Given the description of an element on the screen output the (x, y) to click on. 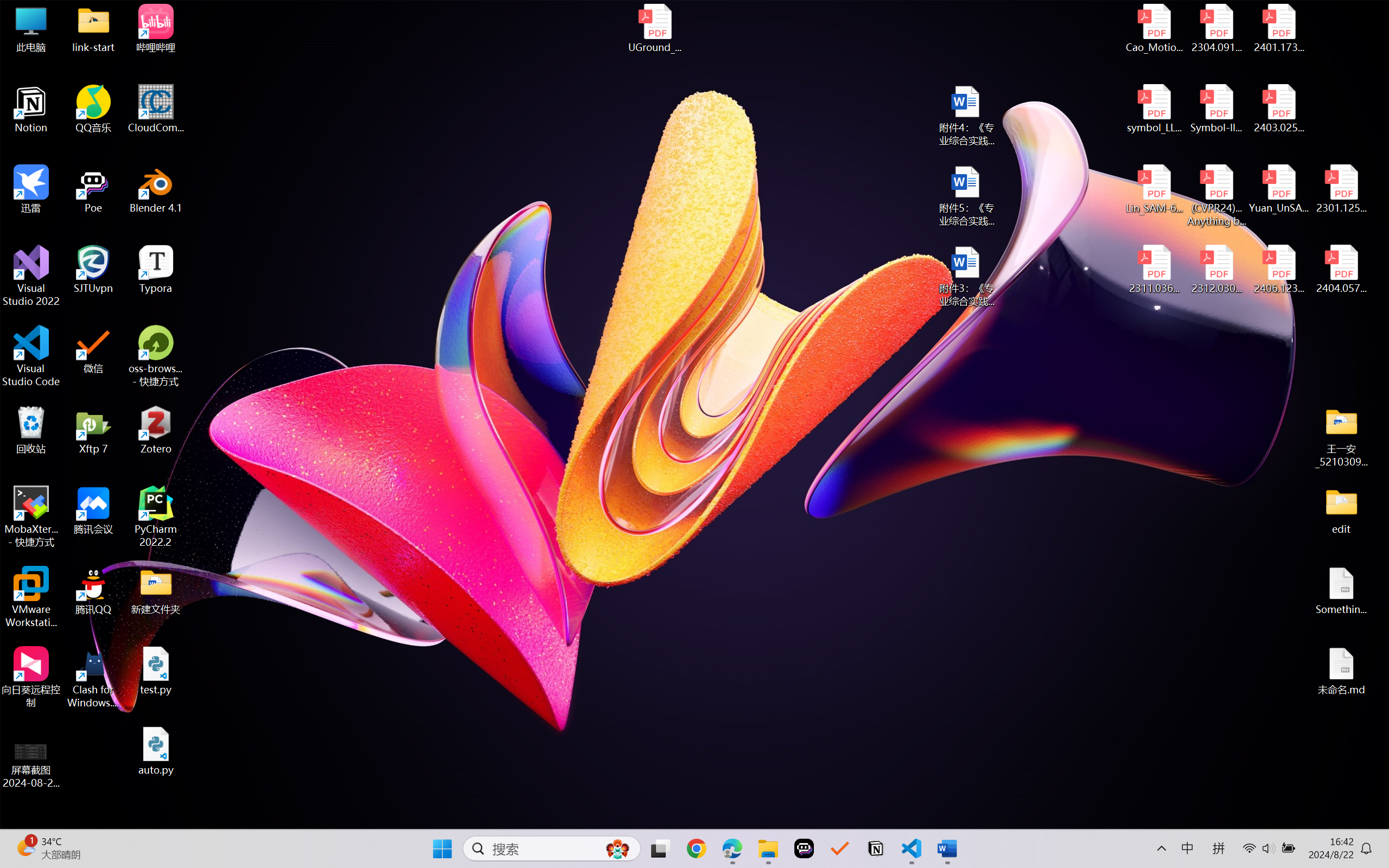
WeChat (20, 614)
New Text Document (2) (1200, 264)
Microsoft Edge (20, 205)
Running applications (674, 855)
Acrobat Reader DC (20, 87)
Recycle Bin (20, 23)
Microsoft Edge (222, 855)
